Given the description of an element on the screen output the (x, y) to click on. 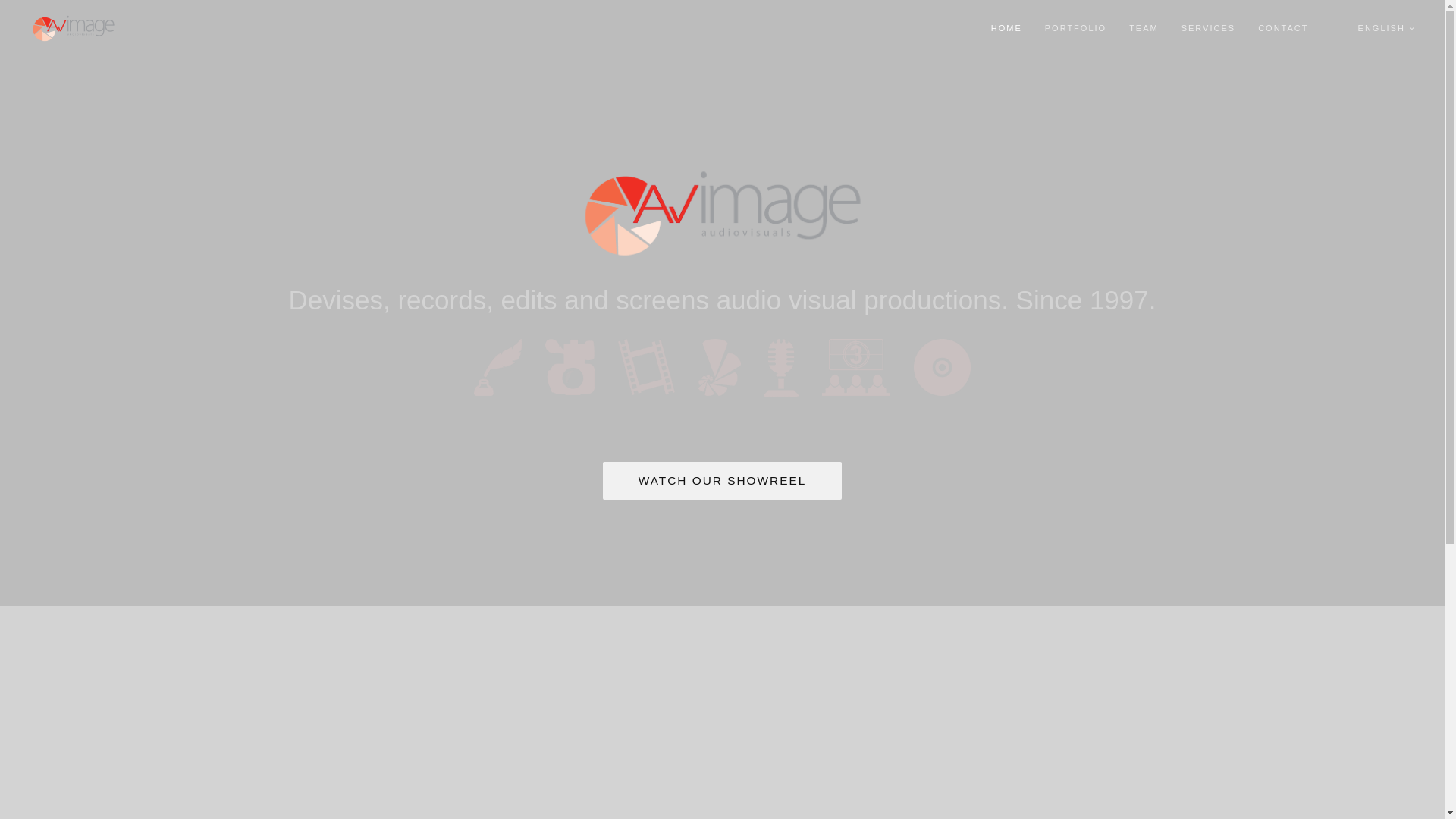
CONTACT Element type: text (1283, 28)
ENGLISH Element type: text (1386, 28)
Montage Element type: hover (646, 366)
Productie Element type: hover (569, 366)
  Element type: text (1332, 28)
Grafiek Element type: hover (718, 366)
WATCH OUR SHOWREEL Element type: text (722, 479)
AV-image Element type: hover (721, 213)
Output Element type: hover (941, 366)
PORTFOLIO Element type: text (1075, 28)
HOME Element type: text (1006, 28)
Events Element type: hover (856, 366)
Audio Element type: hover (780, 366)
Script Element type: hover (497, 366)
TEAM Element type: text (1143, 28)
SERVICES Element type: text (1208, 28)
